Given the description of an element on the screen output the (x, y) to click on. 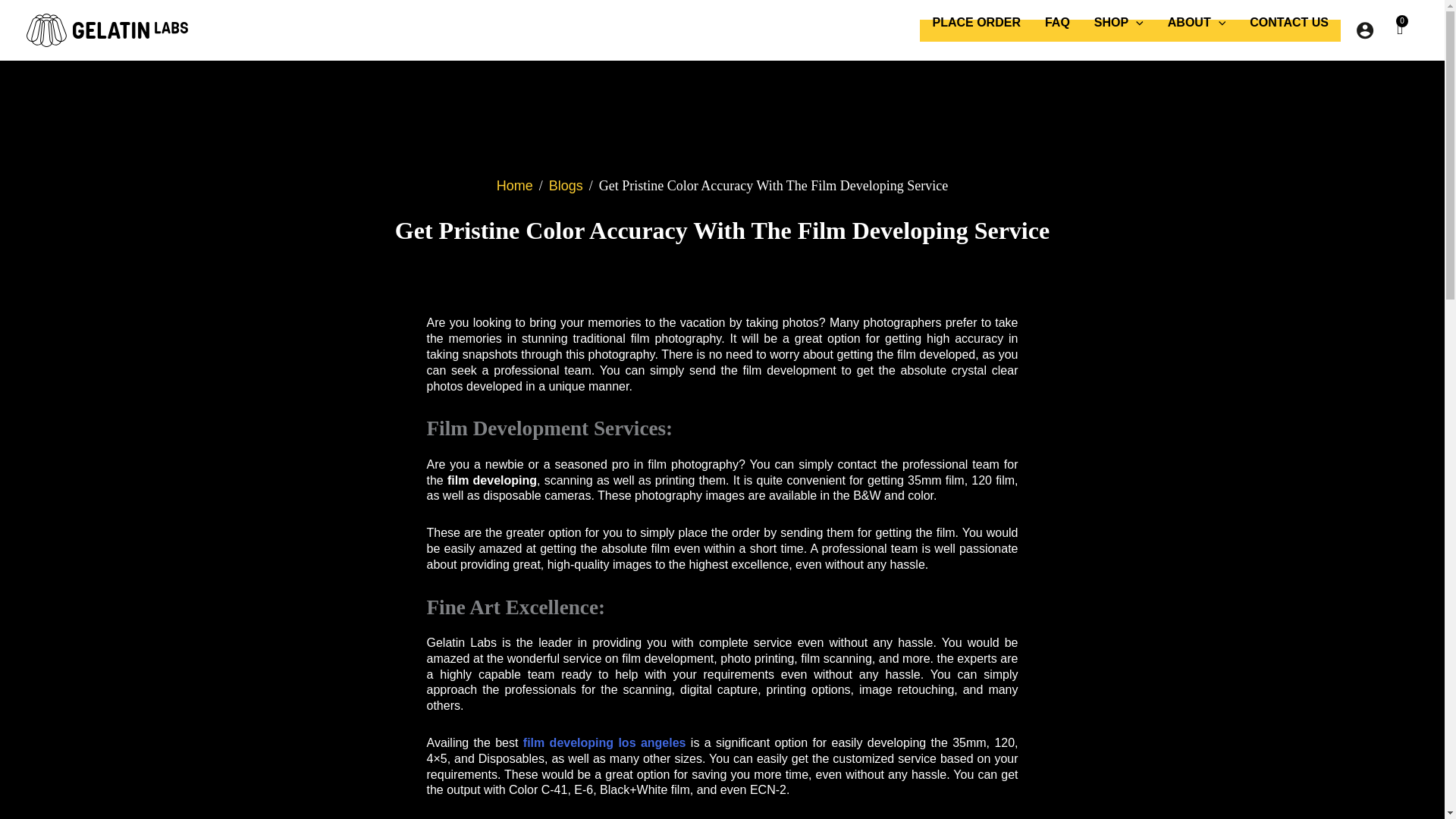
CONTACT US (1288, 23)
ABOUT (1196, 23)
SHOP (1118, 23)
PLACE ORDER (976, 23)
View your shopping cart (1399, 28)
FAQ (1056, 23)
0 (1399, 28)
